Given the description of an element on the screen output the (x, y) to click on. 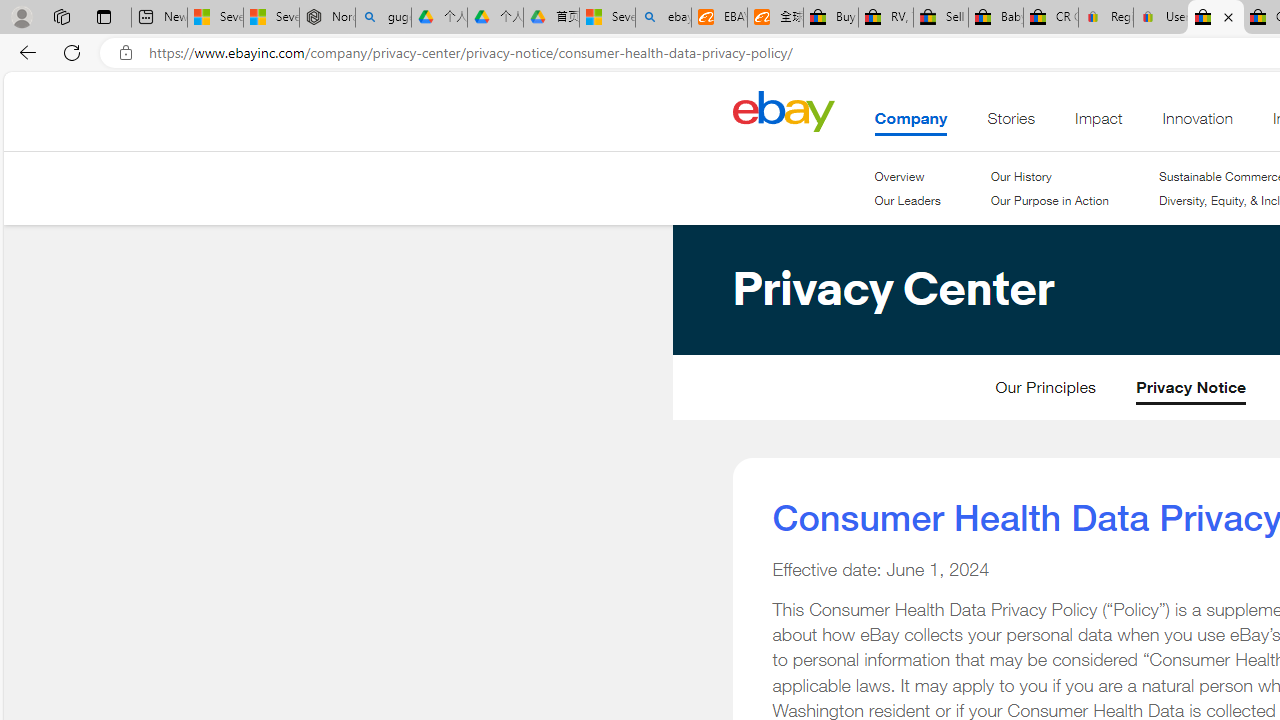
Consumer Health Data Privacy Policy - eBay Inc. (1215, 17)
Privacy Notice (1191, 391)
Stories (1010, 123)
Class: desktop (783, 110)
Impact (1098, 123)
Buy Auto Parts & Accessories | eBay (830, 17)
